Given the description of an element on the screen output the (x, y) to click on. 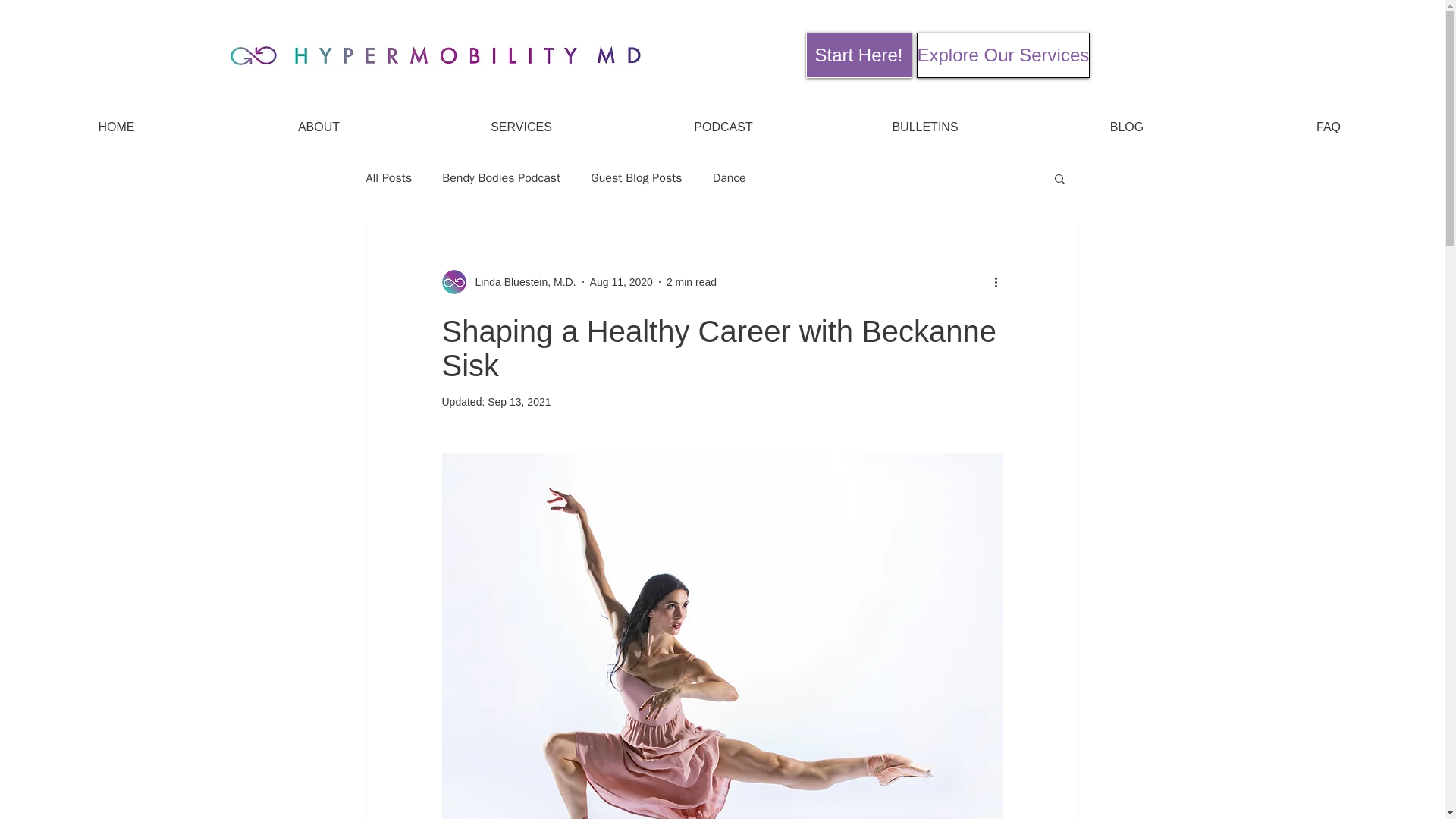
Start Here! (858, 54)
HOME (115, 127)
All Posts (388, 177)
Linda Bluestein, M.D. (520, 282)
BULLETINS (925, 127)
Linda Bluestein, M.D. (508, 282)
Dance (729, 177)
PODCAST (723, 127)
BLOG (1126, 127)
FAQ (1328, 127)
2 min read (691, 282)
Sep 13, 2021 (518, 401)
Aug 11, 2020 (620, 282)
Explore Our Services (1002, 54)
Bendy Bodies Podcast (501, 177)
